Given the description of an element on the screen output the (x, y) to click on. 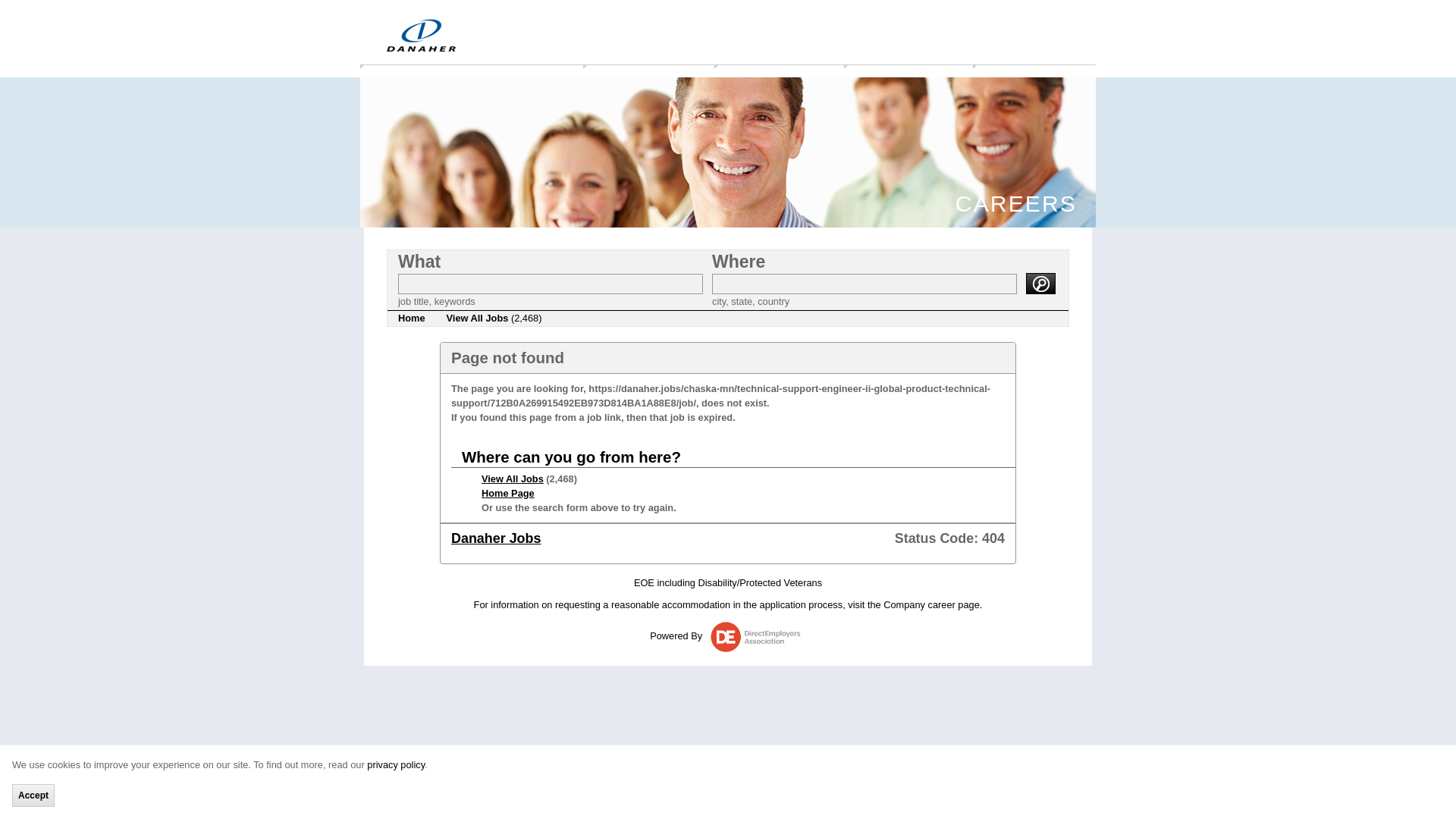
visit the Company career page (913, 604)
Submit Search (1040, 283)
Danaher Jobs (495, 538)
Search Location (863, 283)
Search Phrase (550, 283)
search (1040, 283)
search (1040, 283)
requesting a reasonable accommodation (642, 604)
View All Jobs (512, 478)
Home (411, 318)
